Given the description of an element on the screen output the (x, y) to click on. 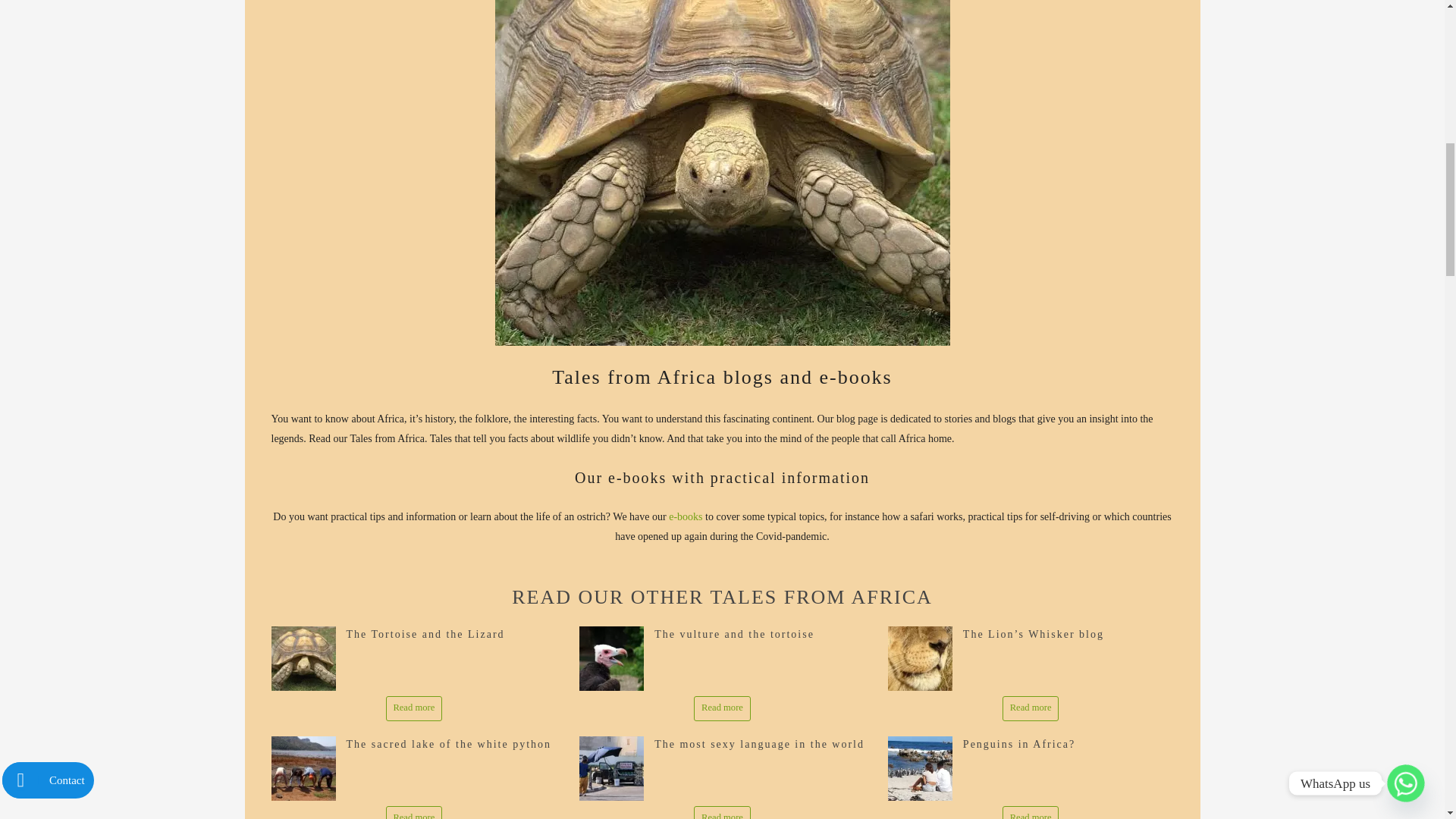
Read more (413, 708)
Read more (722, 708)
The vulture and the tortoise (733, 633)
The sacred lake of the white python (448, 744)
The Tortoise and the Lizard (424, 633)
Read more (1031, 708)
e-books (684, 516)
